Given the description of an element on the screen output the (x, y) to click on. 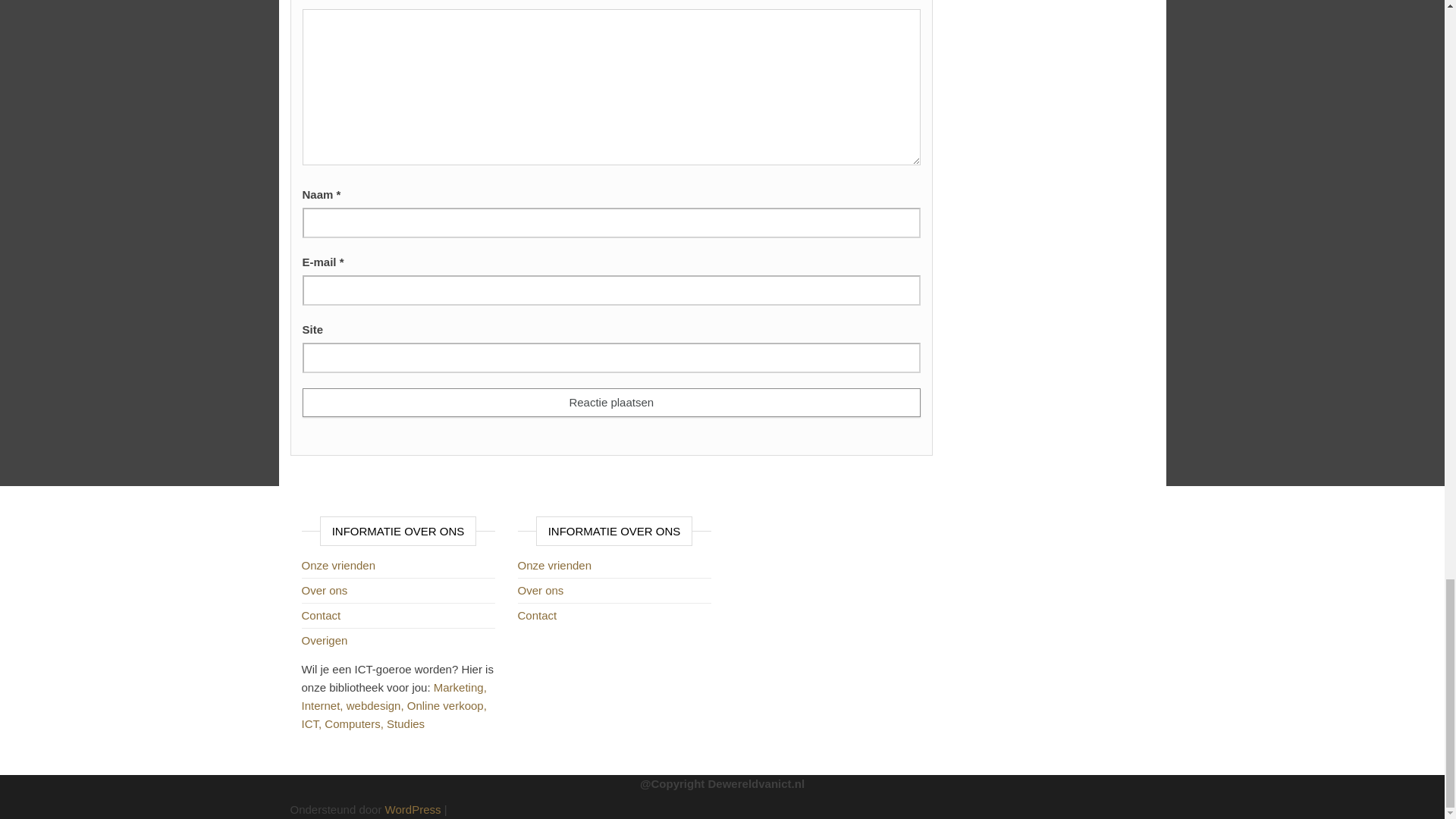
Internet, (323, 705)
Overigen (324, 640)
Reactie plaatsen (610, 402)
webdesign, (376, 705)
Over ons (324, 590)
Marketing, (459, 686)
Onze vrienden (338, 564)
Computers, (355, 723)
ICT, (312, 723)
Reactie plaatsen (610, 402)
